Given the description of an element on the screen output the (x, y) to click on. 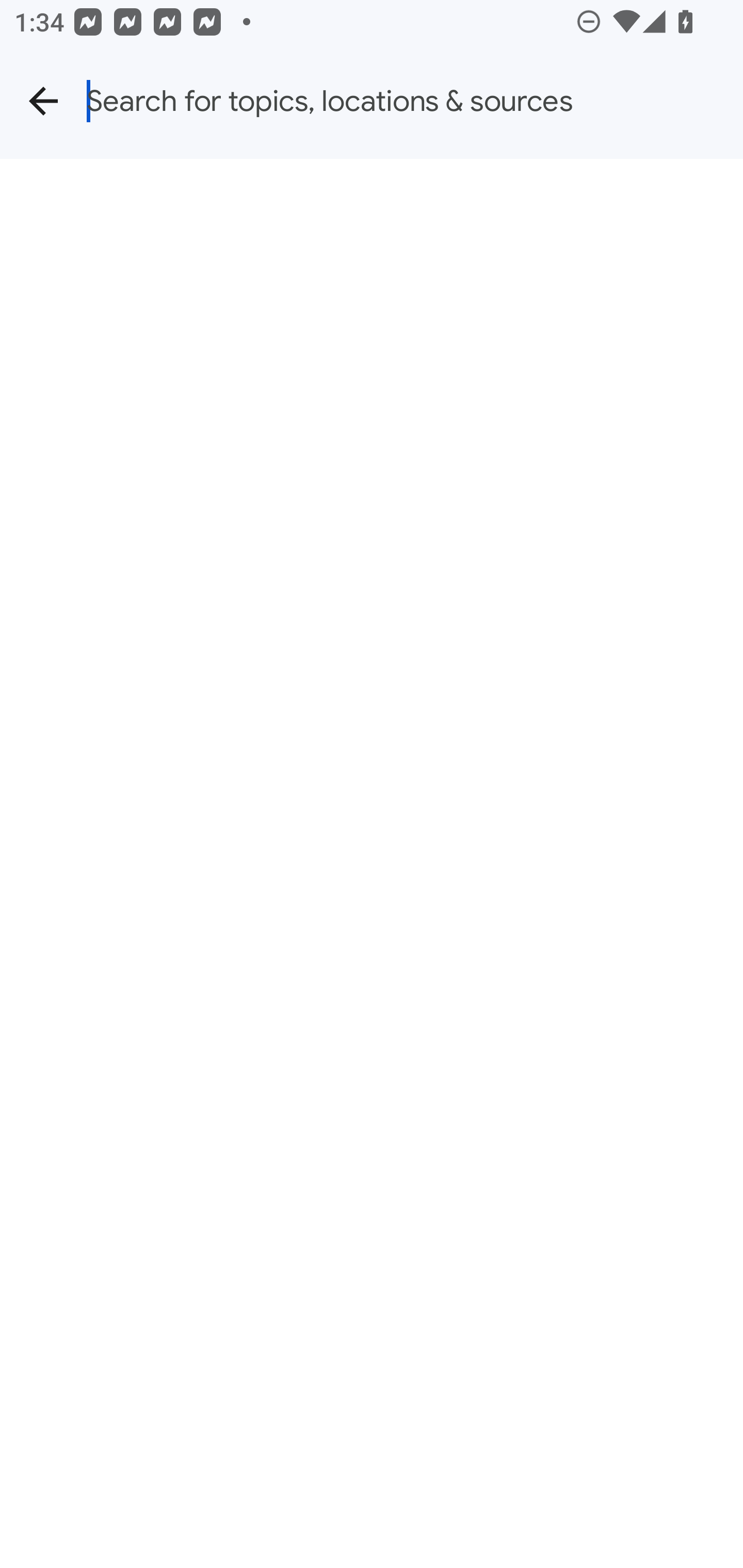
Back (43, 101)
Search for topics, locations & sources (414, 101)
